Given the description of an element on the screen output the (x, y) to click on. 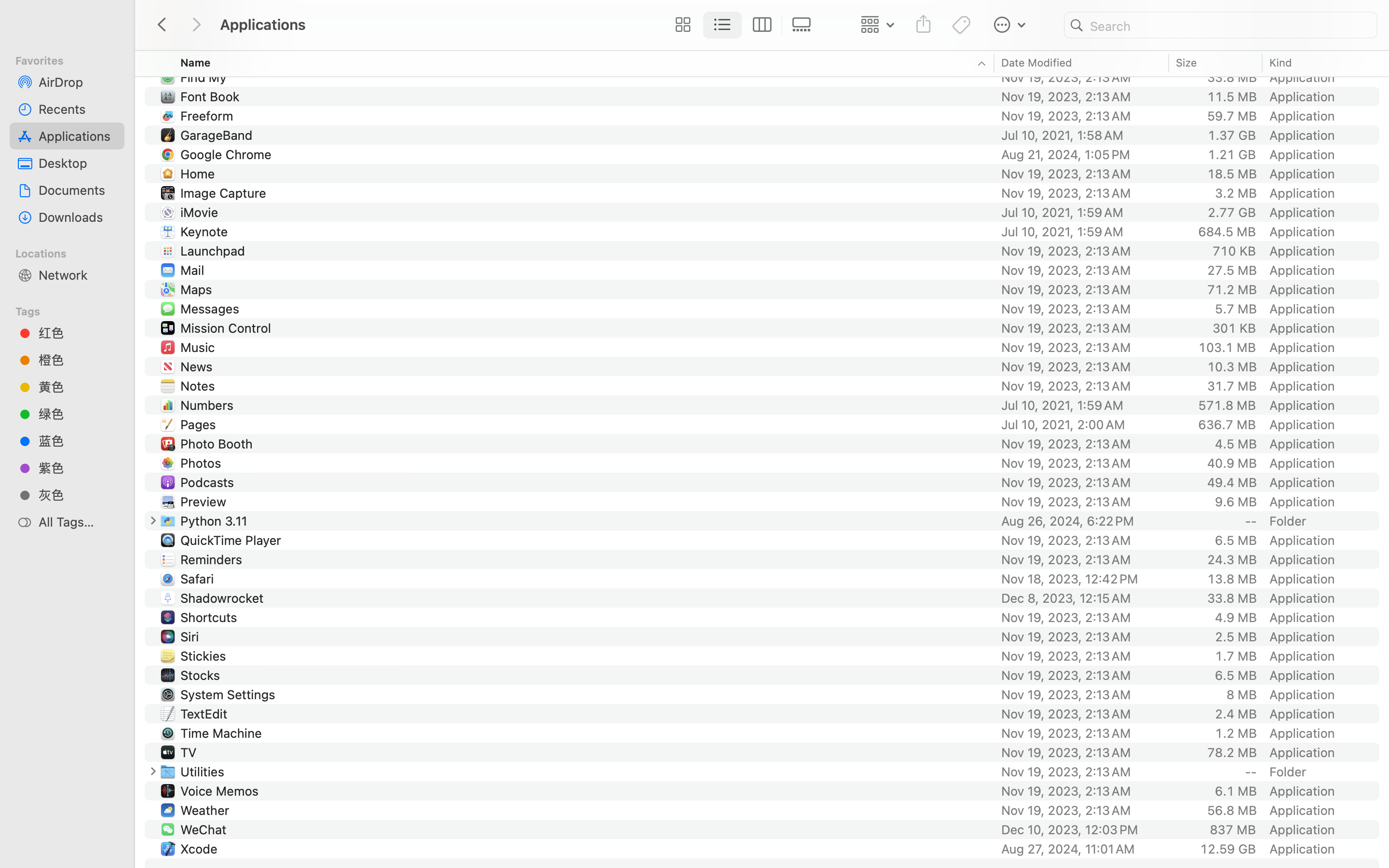
Preview Element type: AXTextField (205, 501)
Mission Control Element type: AXTextField (227, 327)
3.2 MB Element type: AXStaticText (1235, 192)
Photos Element type: AXTextField (202, 462)
